Given the description of an element on the screen output the (x, y) to click on. 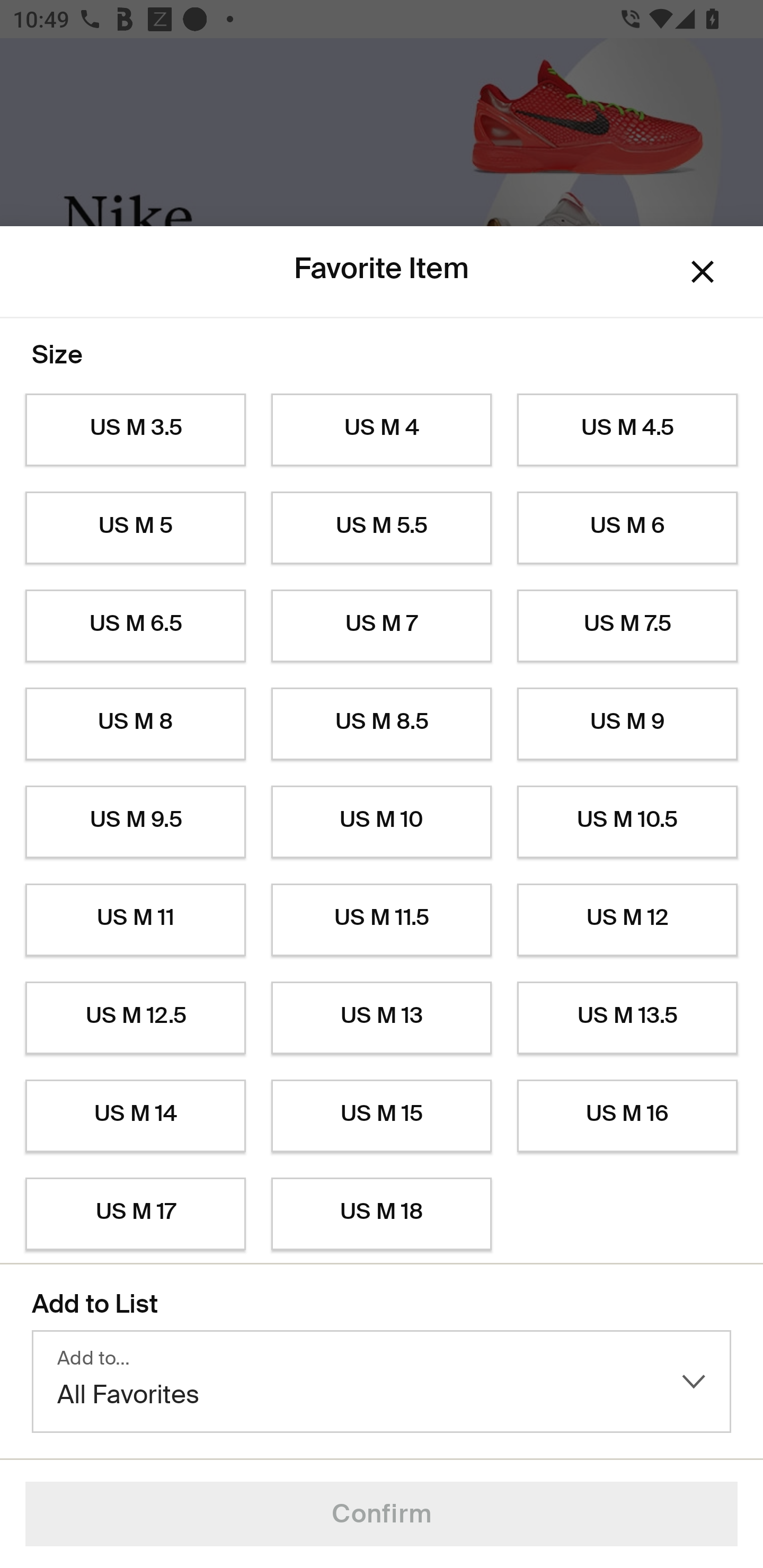
Dismiss (702, 271)
US M 3.5 (135, 430)
US M 4 (381, 430)
US M 4.5 (627, 430)
US M 5 (135, 527)
US M 5.5 (381, 527)
US M 6 (627, 527)
US M 6.5 (135, 626)
US M 7 (381, 626)
US M 7.5 (627, 626)
US M 8 (135, 724)
US M 8.5 (381, 724)
US M 9 (627, 724)
US M 9.5 (135, 822)
US M 10 (381, 822)
US M 10.5 (627, 822)
US M 11 (135, 919)
US M 11.5 (381, 919)
US M 12 (627, 919)
US M 12.5 (135, 1018)
US M 13 (381, 1018)
US M 13.5 (627, 1018)
US M 14 (135, 1116)
US M 15 (381, 1116)
US M 16 (627, 1116)
US M 17 (135, 1214)
US M 18 (381, 1214)
Add to… All Favorites (381, 1381)
Confirm (381, 1513)
